Given the description of an element on the screen output the (x, y) to click on. 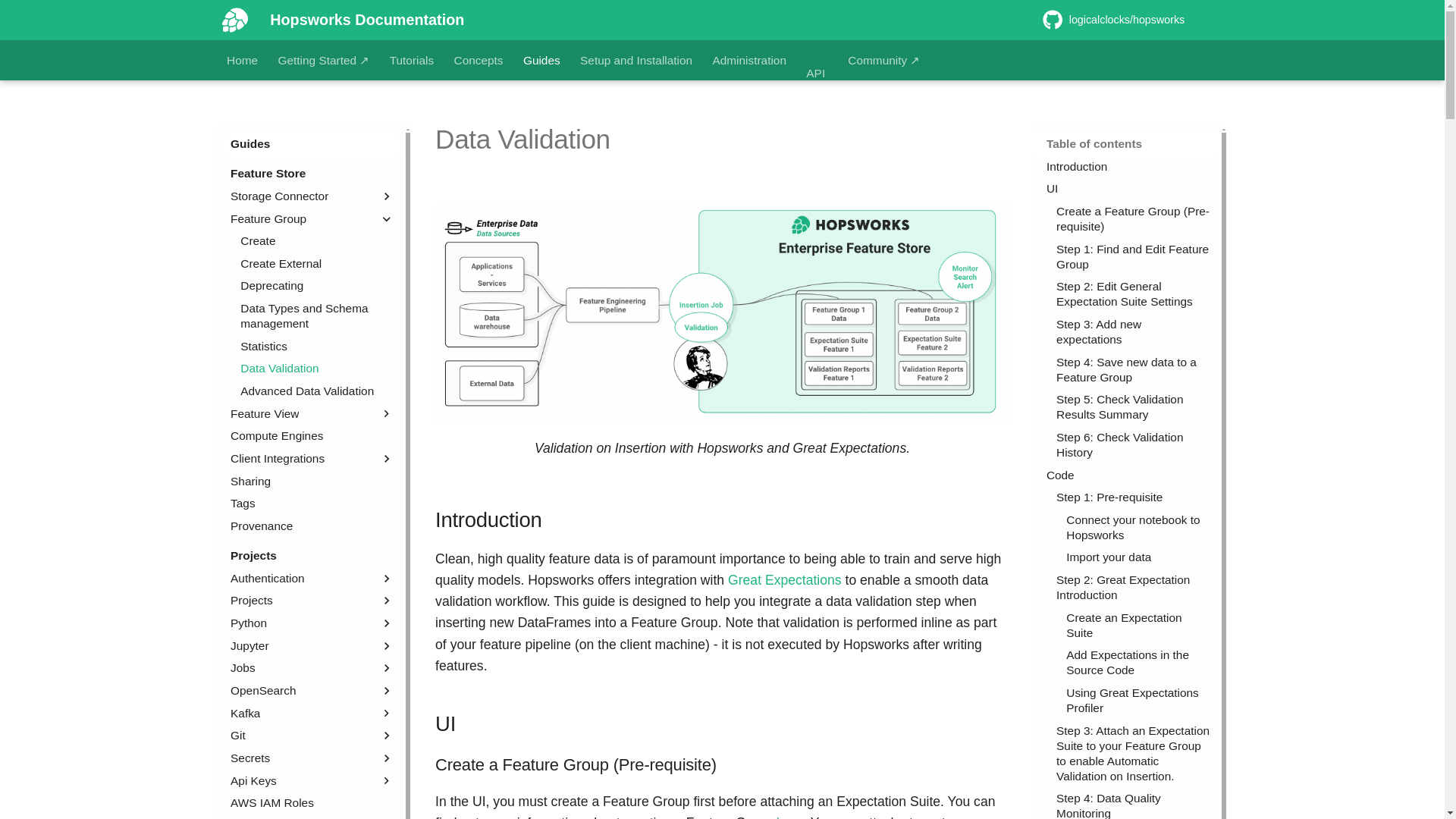
Home (242, 60)
Guides (541, 60)
Concepts (478, 60)
API (815, 73)
Hopsworks Documentation (234, 19)
Setup and Installation (636, 60)
Go to repository (1129, 20)
Tutorials (411, 60)
Administration (748, 60)
